Given the description of an element on the screen output the (x, y) to click on. 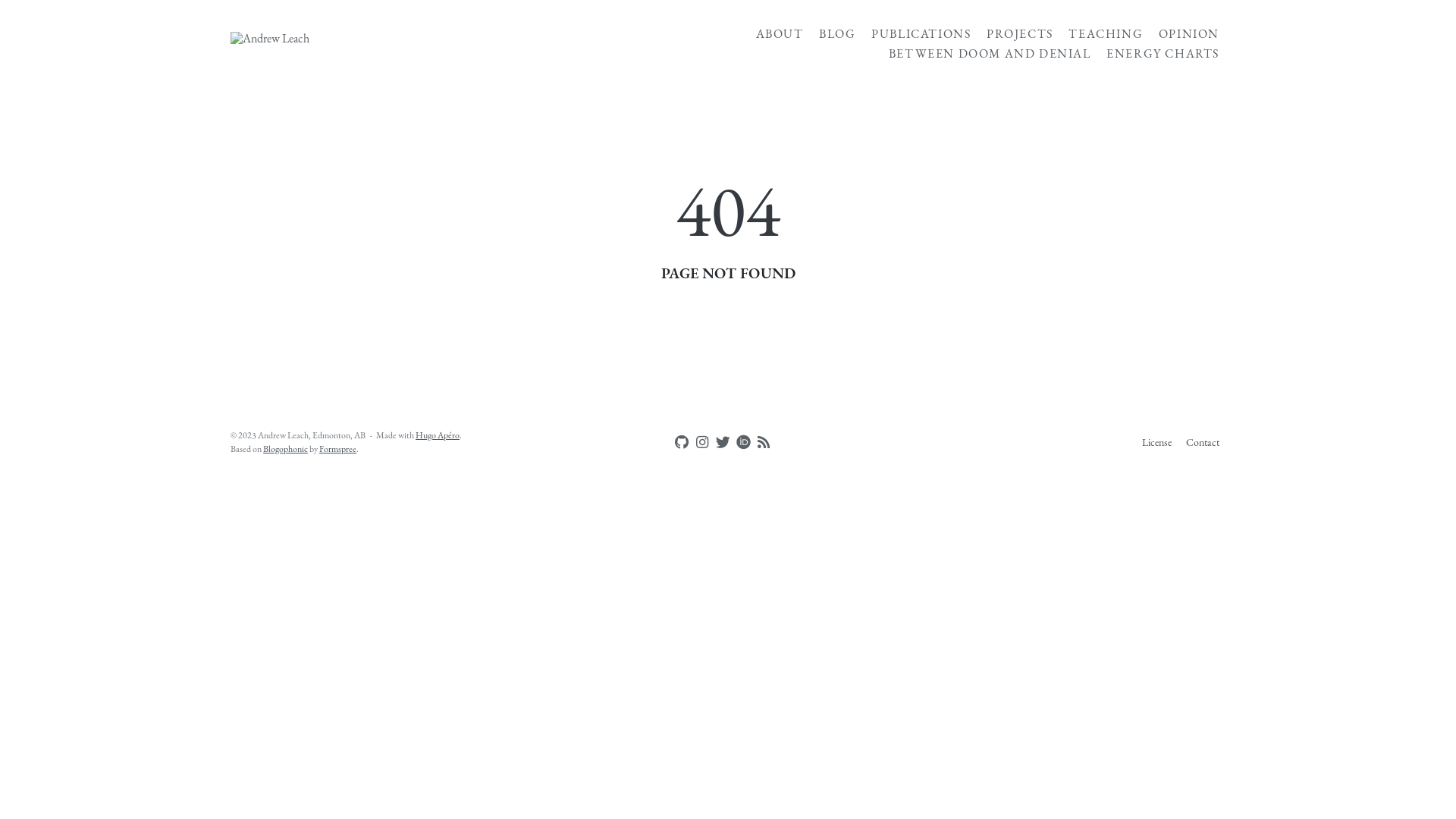
Formspree Element type: text (337, 448)
TEACHING Element type: text (1105, 33)
BLOG Element type: text (836, 33)
BETWEEN DOOM AND DENIAL Element type: text (989, 53)
Blogophonic Element type: text (285, 448)
PUBLICATIONS Element type: text (920, 33)
Home Element type: hover (394, 44)
ABOUT Element type: text (779, 33)
rss Element type: hover (760, 442)
github Element type: hover (678, 442)
PROJECTS Element type: text (1019, 33)
License Element type: text (1156, 442)
OPINION Element type: text (1188, 33)
twitter Element type: hover (719, 442)
ENERGY CHARTS Element type: text (1162, 53)
instagram Element type: hover (699, 442)
Contact Element type: text (1202, 442)
orcid Element type: hover (740, 441)
